Given the description of an element on the screen output the (x, y) to click on. 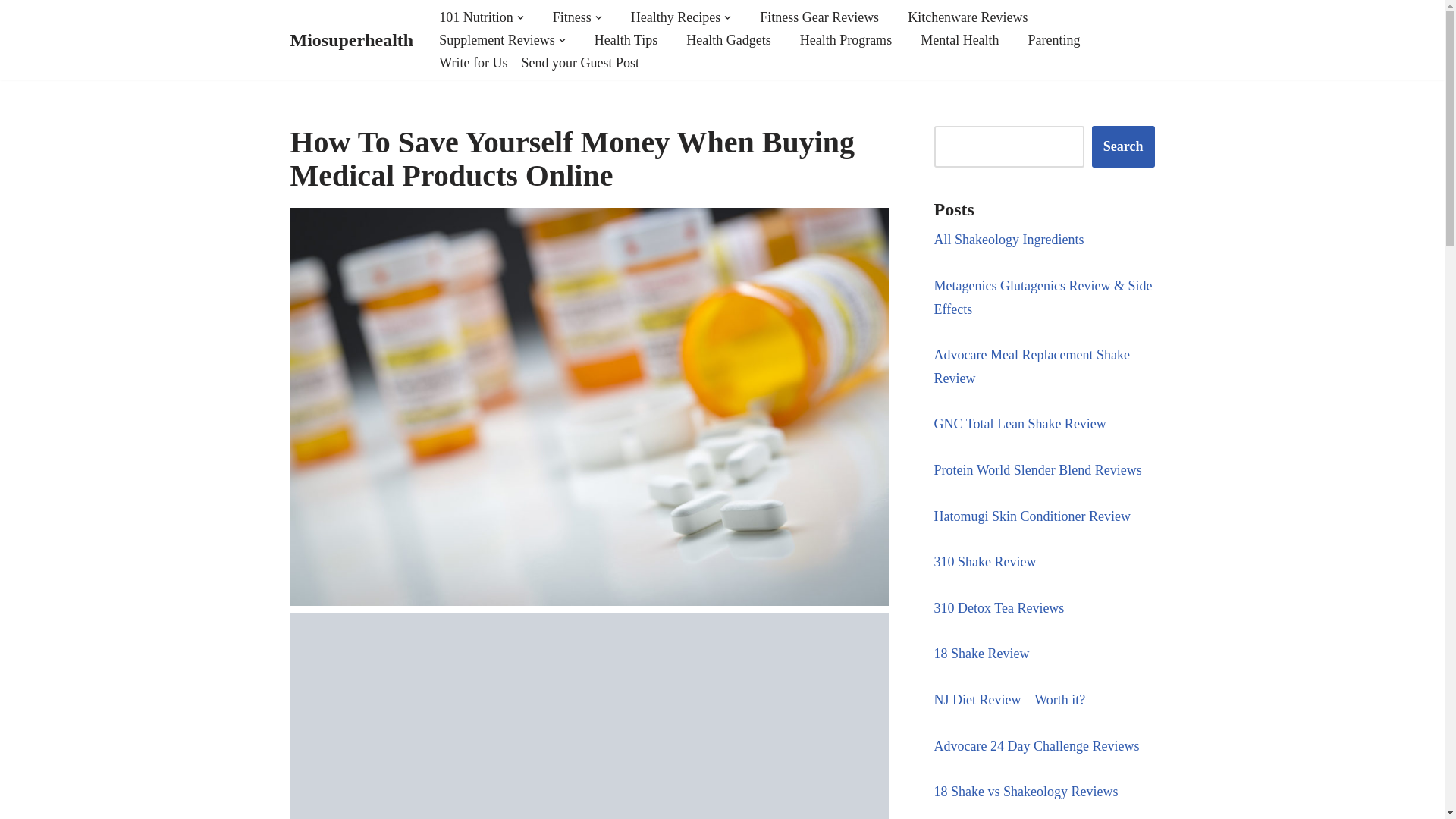
Kitchenware Reviews (967, 16)
Fitness Gear Reviews (819, 16)
Health Gadgets (727, 39)
Health Programs (845, 39)
Health Tips (626, 39)
Miosuperhealth (351, 40)
Healthy Recipes (675, 16)
Supplement Reviews (496, 39)
Skip to content (11, 31)
101 Nutrition (476, 16)
Parenting (1053, 39)
Fitness (572, 16)
Mental Health (959, 39)
